Given the description of an element on the screen output the (x, y) to click on. 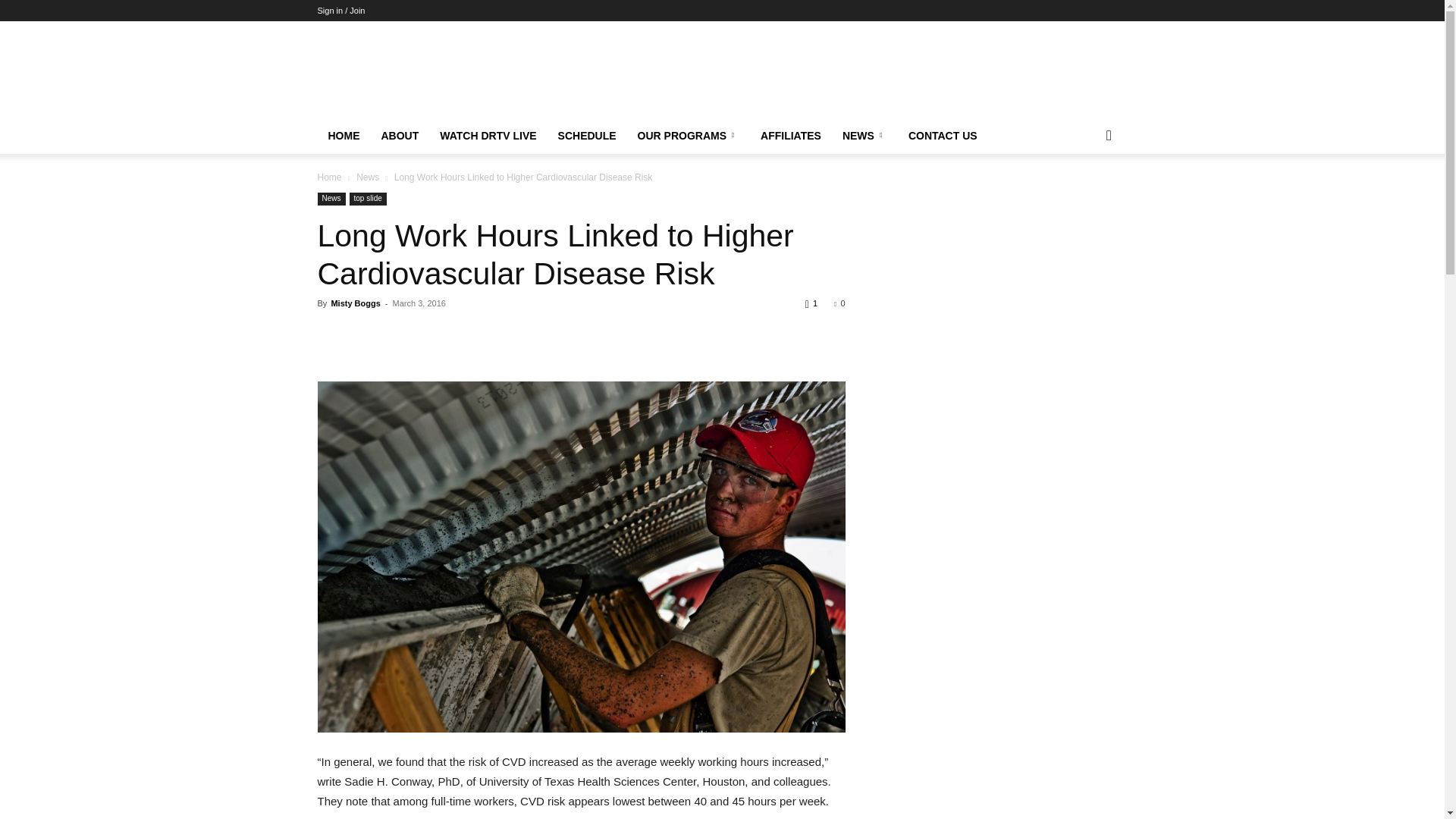
OUR PROGRAMS (688, 135)
ABOUT (399, 135)
SCHEDULE (587, 135)
NEWS (864, 135)
HOME (343, 135)
WATCH DRTV LIVE (488, 135)
AFFILIATES (790, 135)
View all posts in News (367, 176)
